Given the description of an element on the screen output the (x, y) to click on. 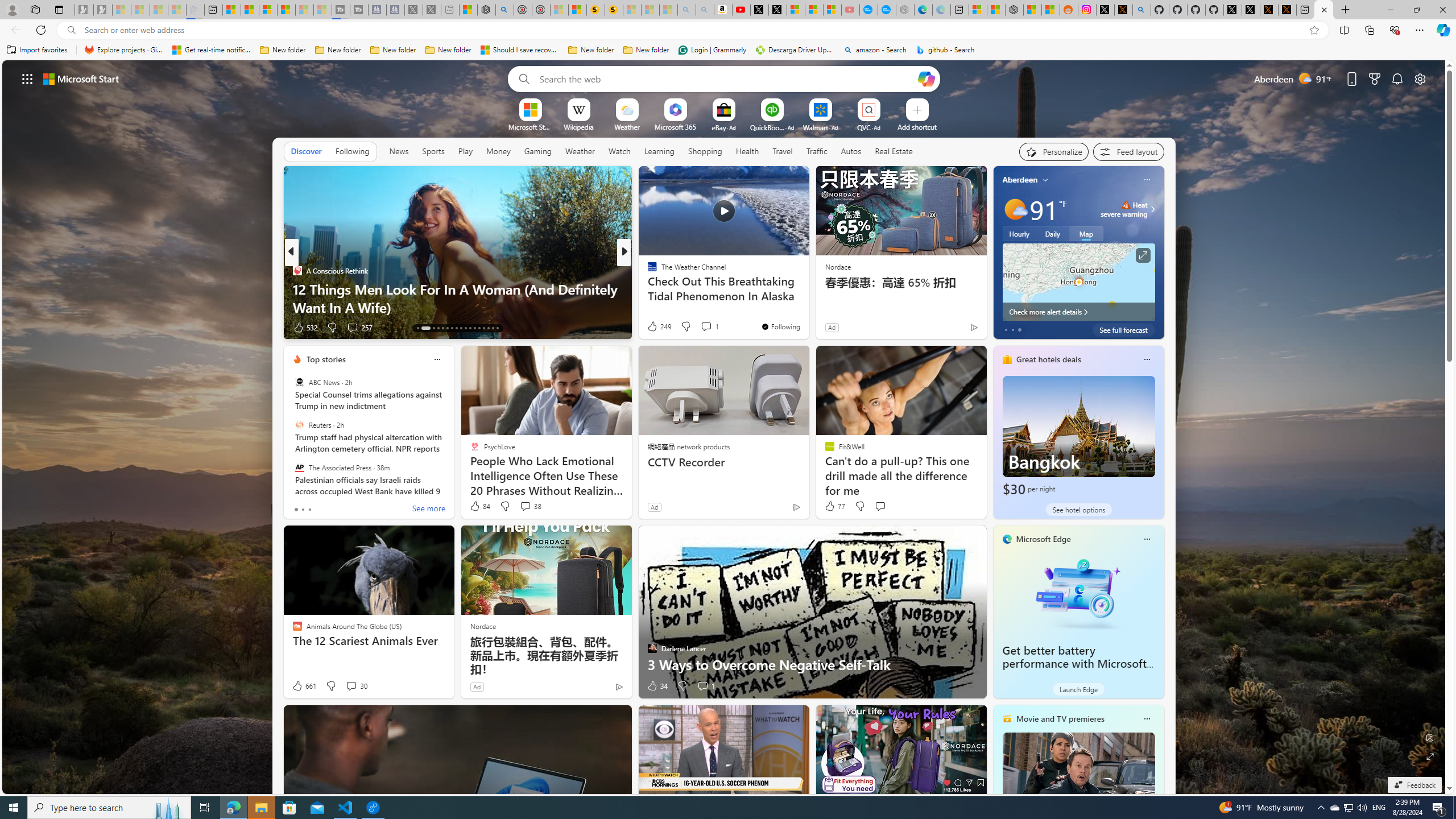
4 Like (651, 327)
606 Like (654, 327)
Scripps News (647, 270)
Top stories (325, 359)
Larger map  (1077, 282)
View comments 192 Comment (703, 327)
AutomationID: tab-21 (460, 328)
AutomationID: tab-14 (424, 328)
ABC News (299, 382)
